Given the description of an element on the screen output the (x, y) to click on. 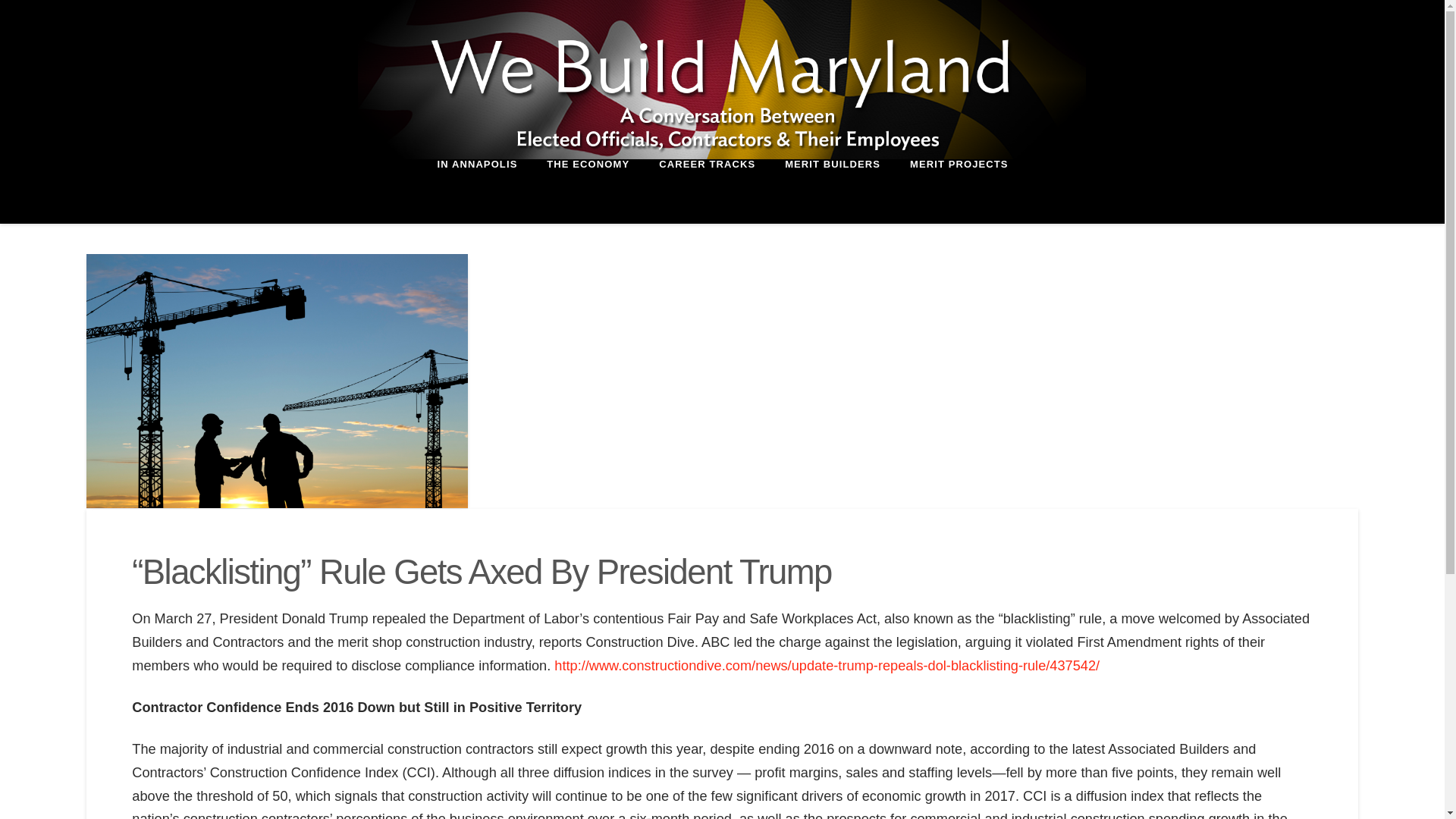
THE ECONOMY (587, 190)
MERIT BUILDERS (832, 190)
MERIT PROJECTS (959, 190)
IN ANNAPOLIS (476, 190)
CAREER TRACKS (706, 190)
